Given the description of an element on the screen output the (x, y) to click on. 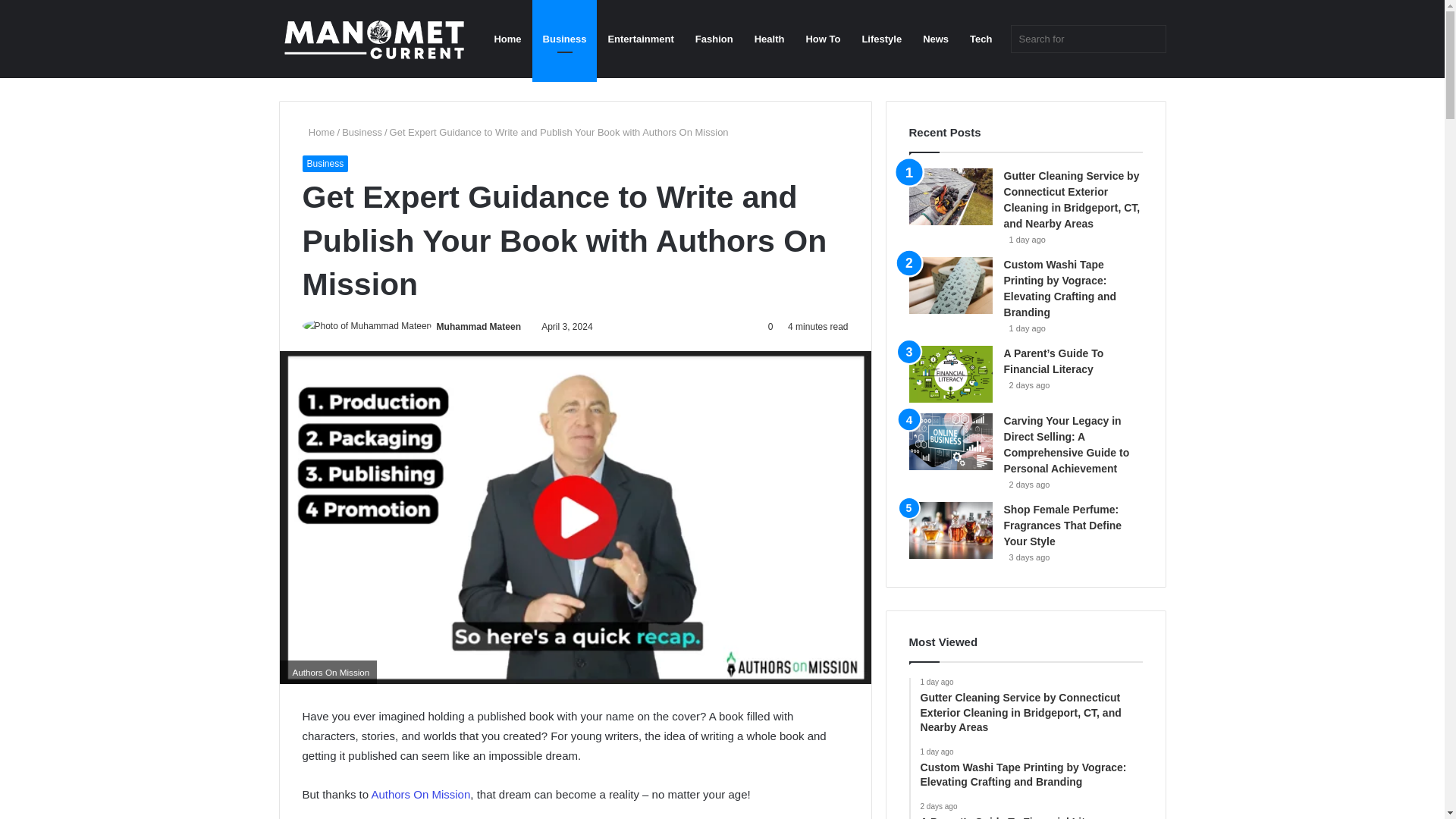
Home (507, 38)
News (935, 38)
Fashion (714, 38)
Search for (1088, 39)
Business (361, 132)
Search for (1150, 38)
Muhammad Mateen (478, 326)
Manometcurrent (373, 39)
Business (324, 163)
Lifestyle (881, 38)
Health (769, 38)
Tech (981, 38)
Authors On Mission (420, 793)
Entertainment (640, 38)
